Given the description of an element on the screen output the (x, y) to click on. 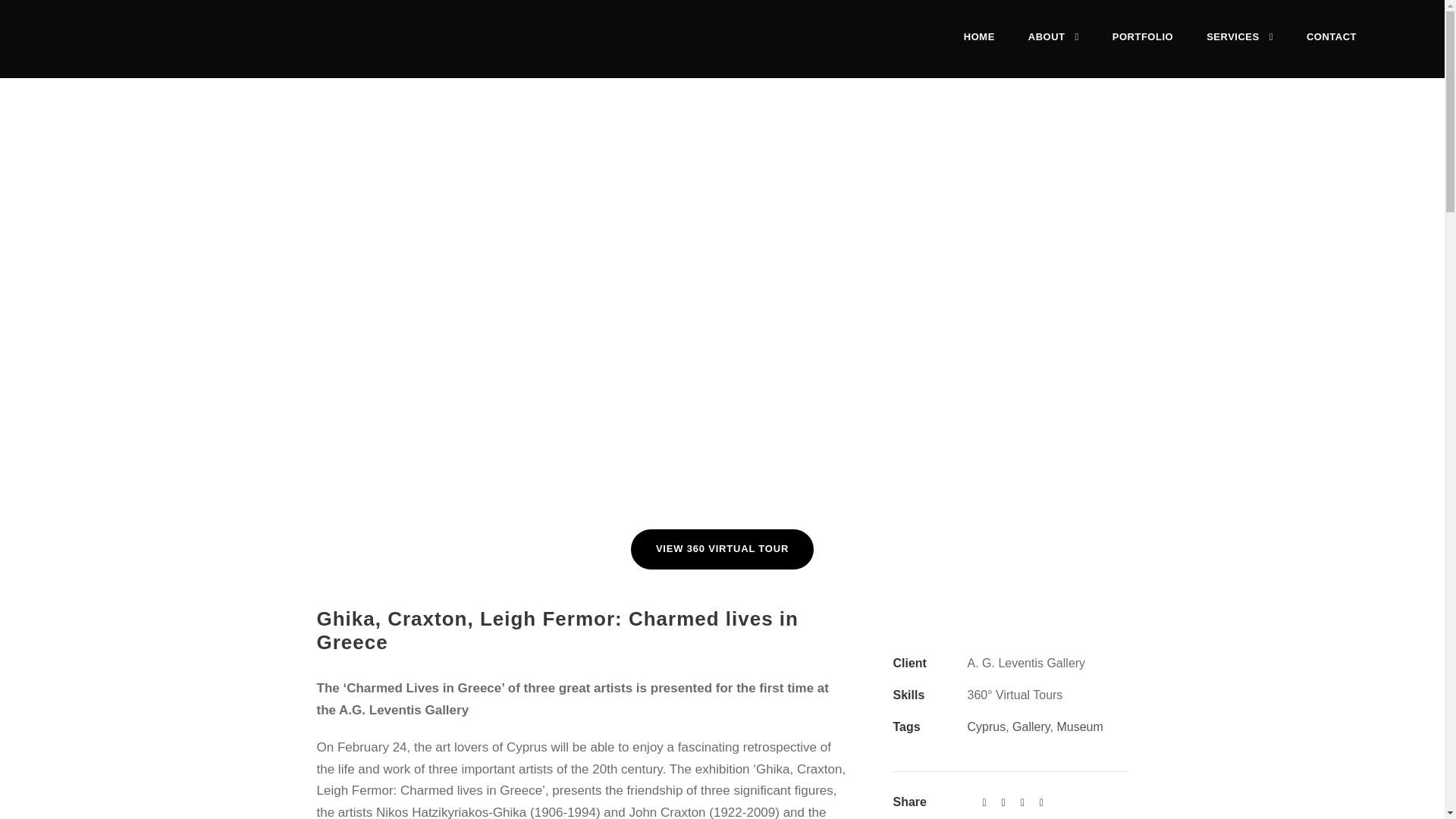
Museum (1079, 726)
Cyprus (986, 726)
Gallery (1030, 726)
ABOUT (1052, 49)
CONTACT (1331, 49)
VIEW 360 VIRTUAL TOUR (721, 549)
PORTFOLIO (1142, 49)
SERVICES (1239, 49)
